Given the description of an element on the screen output the (x, y) to click on. 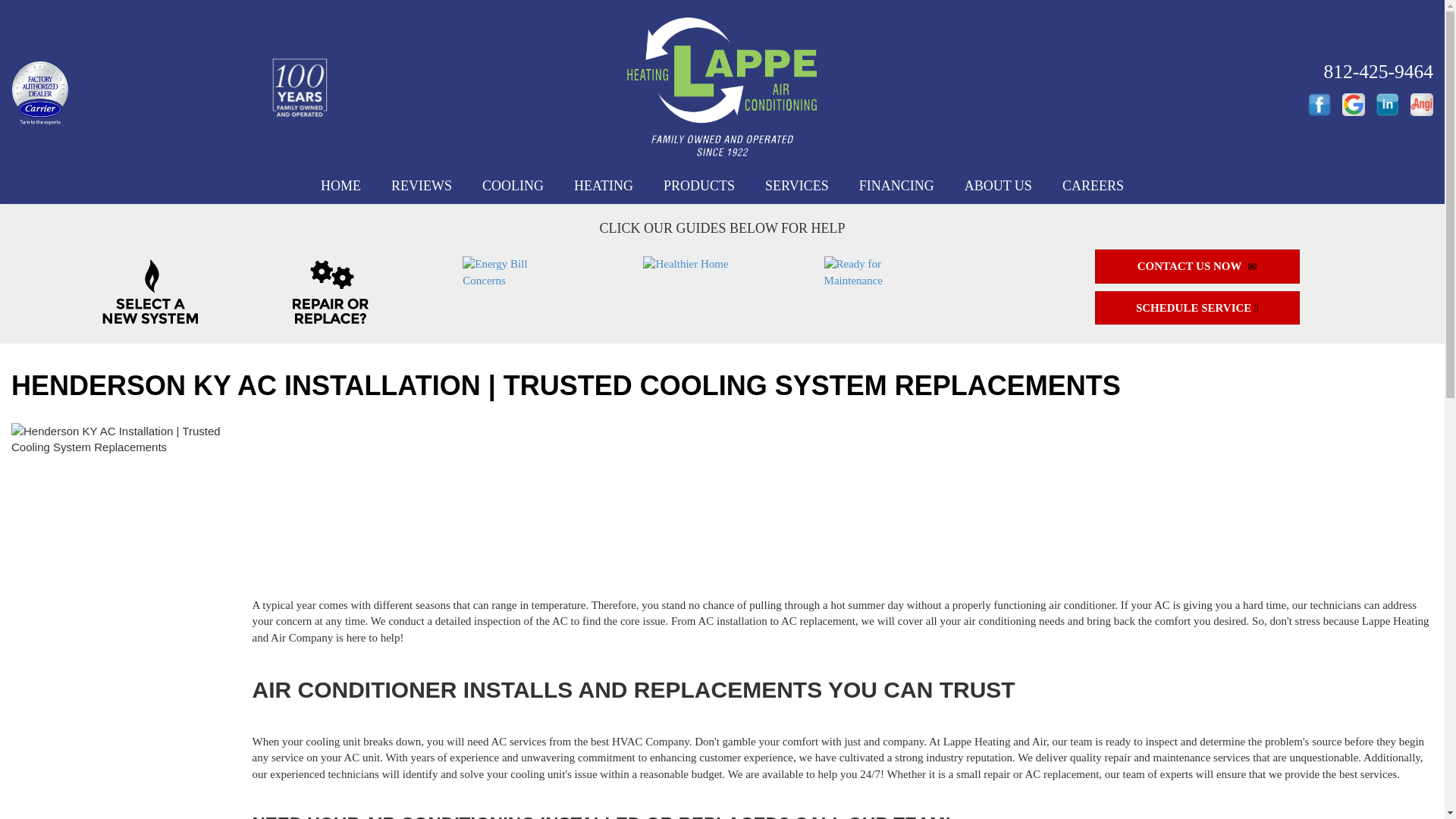
REVIEWS (421, 185)
COOLING (513, 185)
812-425-9464 (1377, 71)
HOME (340, 185)
HEATING (603, 185)
FINANCING (896, 185)
PRODUCTS (698, 185)
SERVICES (796, 185)
